Given the description of an element on the screen output the (x, y) to click on. 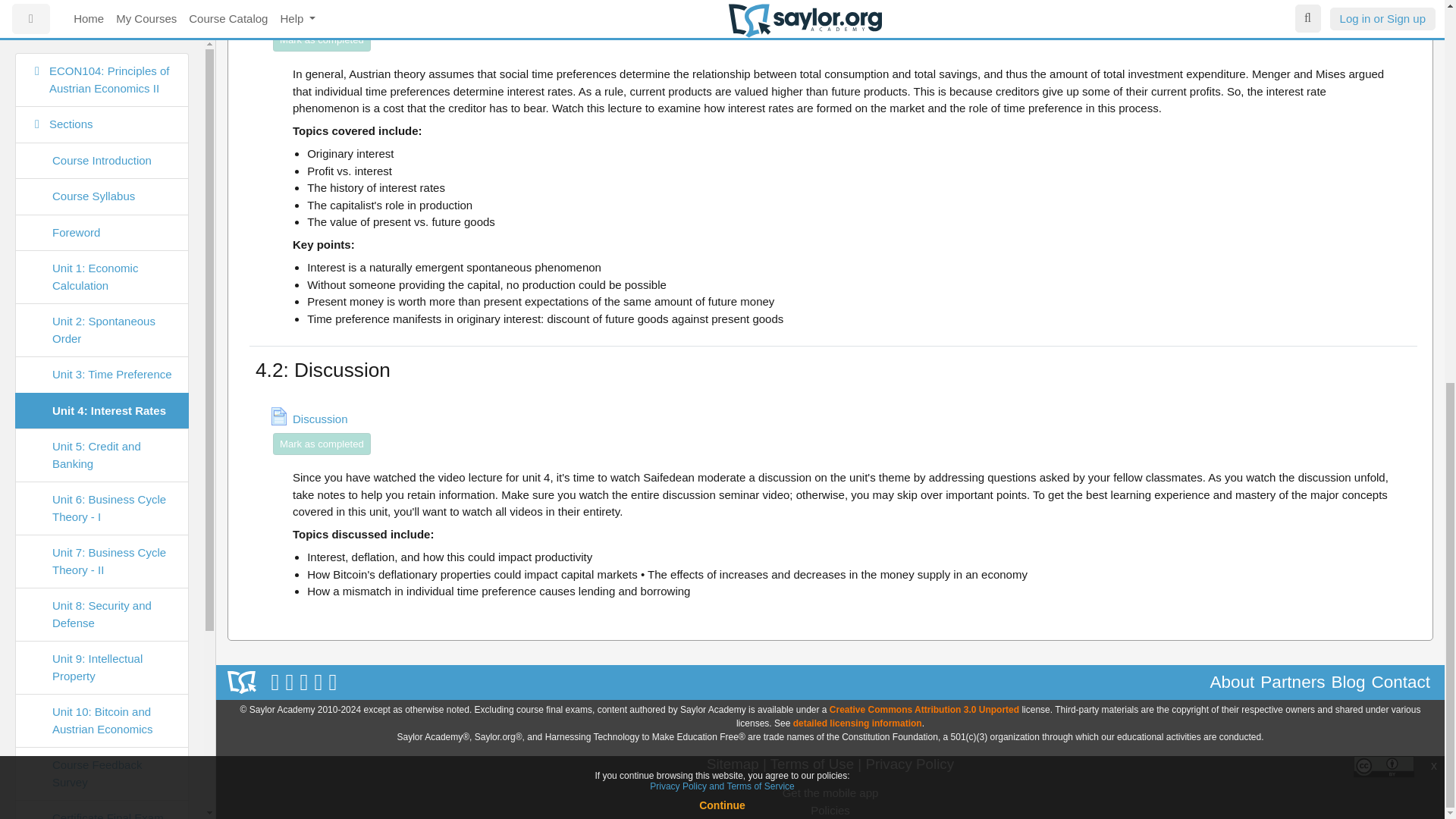
Course Feedback Survey (101, 56)
Resources (101, 136)
Saylor Academy (241, 681)
My programs (101, 257)
Certificate Final Exam (101, 100)
Home (101, 221)
Unit 10: Bitcoin and Austrian Economics (101, 15)
Activities (101, 172)
